Given the description of an element on the screen output the (x, y) to click on. 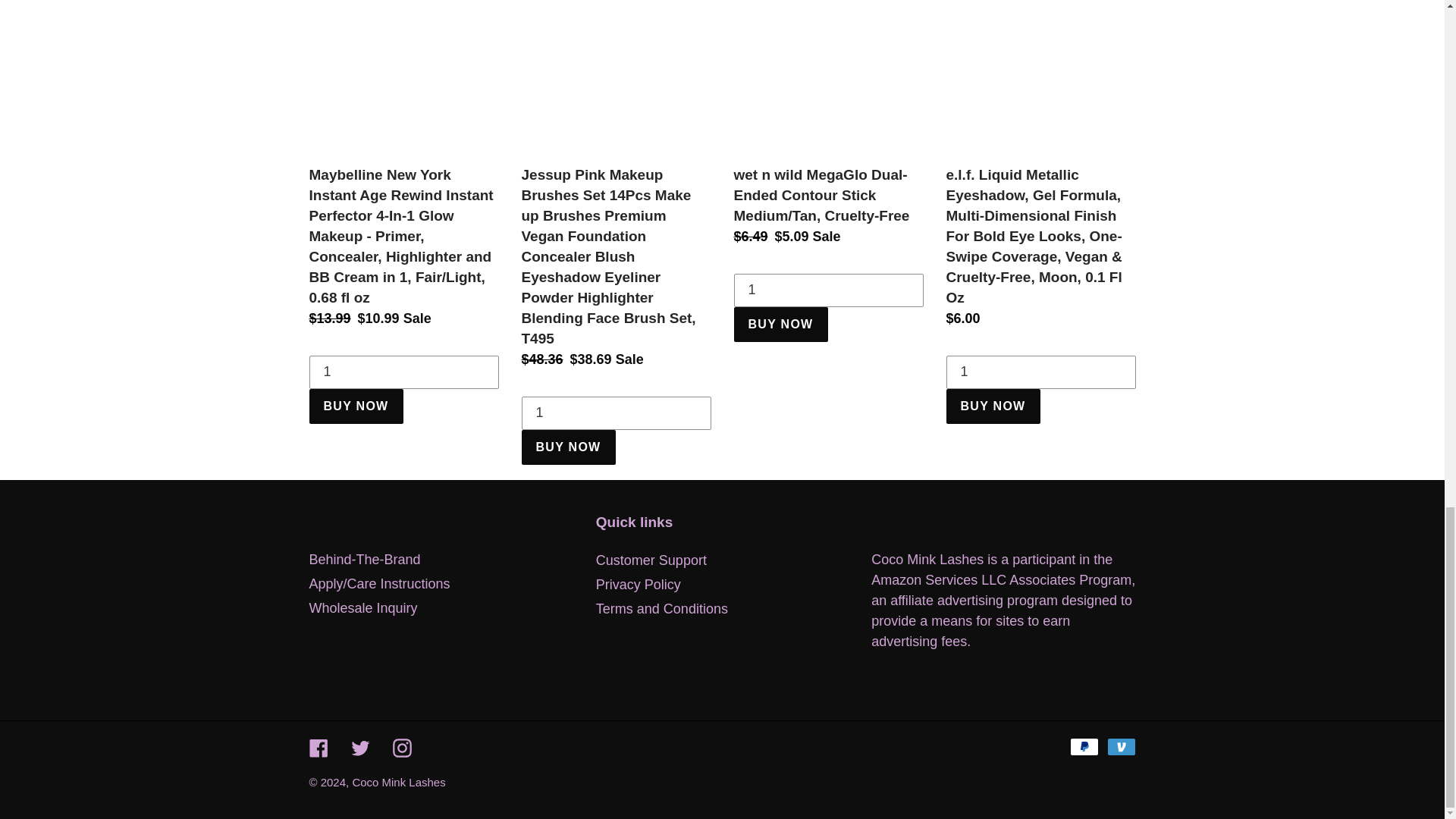
1 (616, 412)
1 (403, 372)
1 (1040, 372)
1 (828, 290)
